Given the description of an element on the screen output the (x, y) to click on. 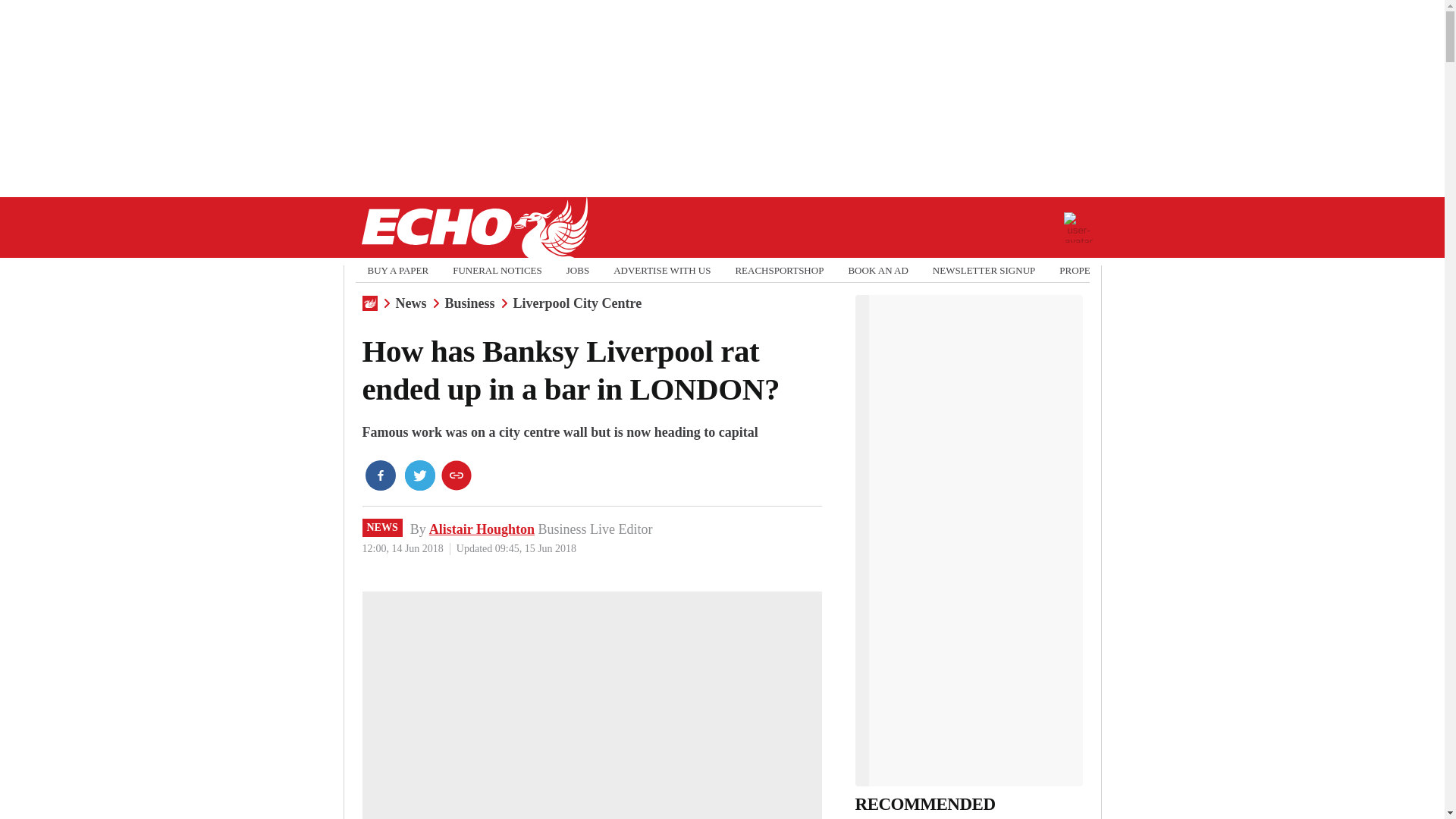
REACHSPORTSHOP (779, 270)
Alistair Houghton (481, 529)
NEWSLETTER SIGNUP (984, 270)
PROPERTY (1084, 270)
ADVERTISE WITH US (661, 270)
Liverpool City Centre (577, 303)
FUNERAL NOTICES (496, 270)
Business (469, 303)
NEWS (382, 527)
BUY A PAPER (397, 270)
